Given the description of an element on the screen output the (x, y) to click on. 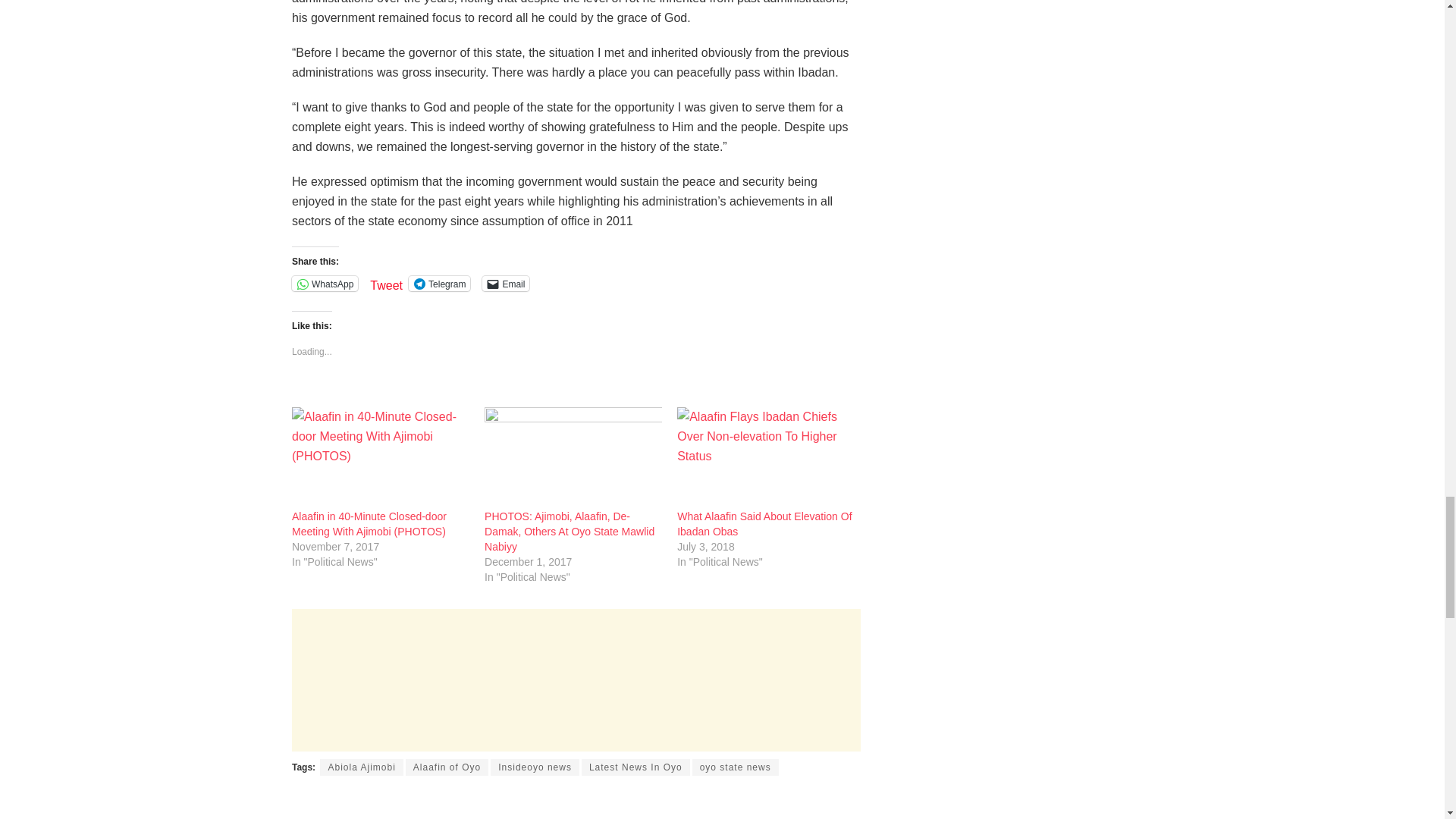
What Alaafin Said About Elevation Of Ibadan Obas (764, 523)
Click to share on Telegram (439, 283)
Click to email a link to a friend (505, 283)
What Alaafin Said About Elevation Of Ibadan Obas (765, 457)
Click to share on WhatsApp (325, 283)
